Given the description of an element on the screen output the (x, y) to click on. 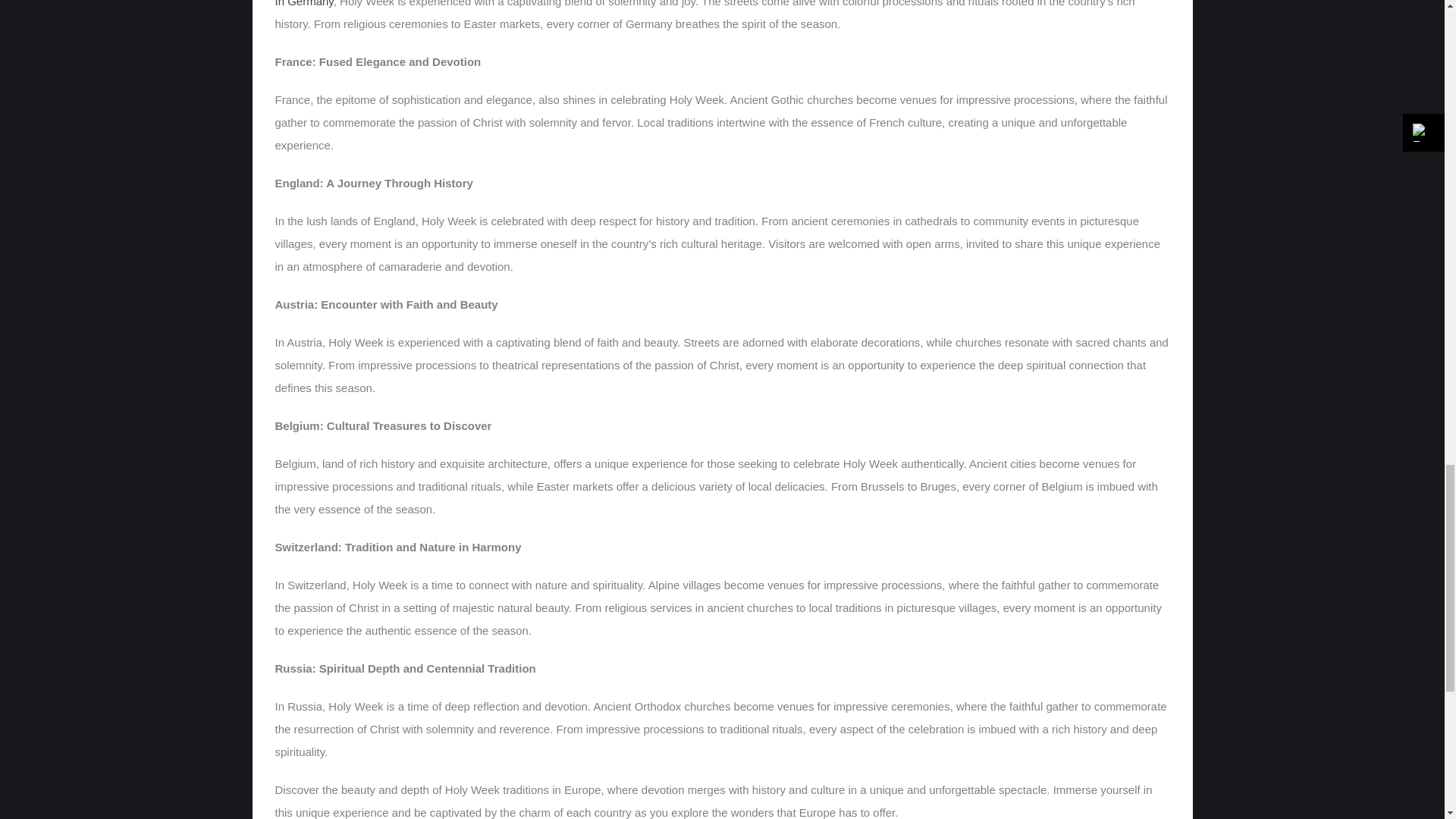
In Germany (304, 3)
